Given the description of an element on the screen output the (x, y) to click on. 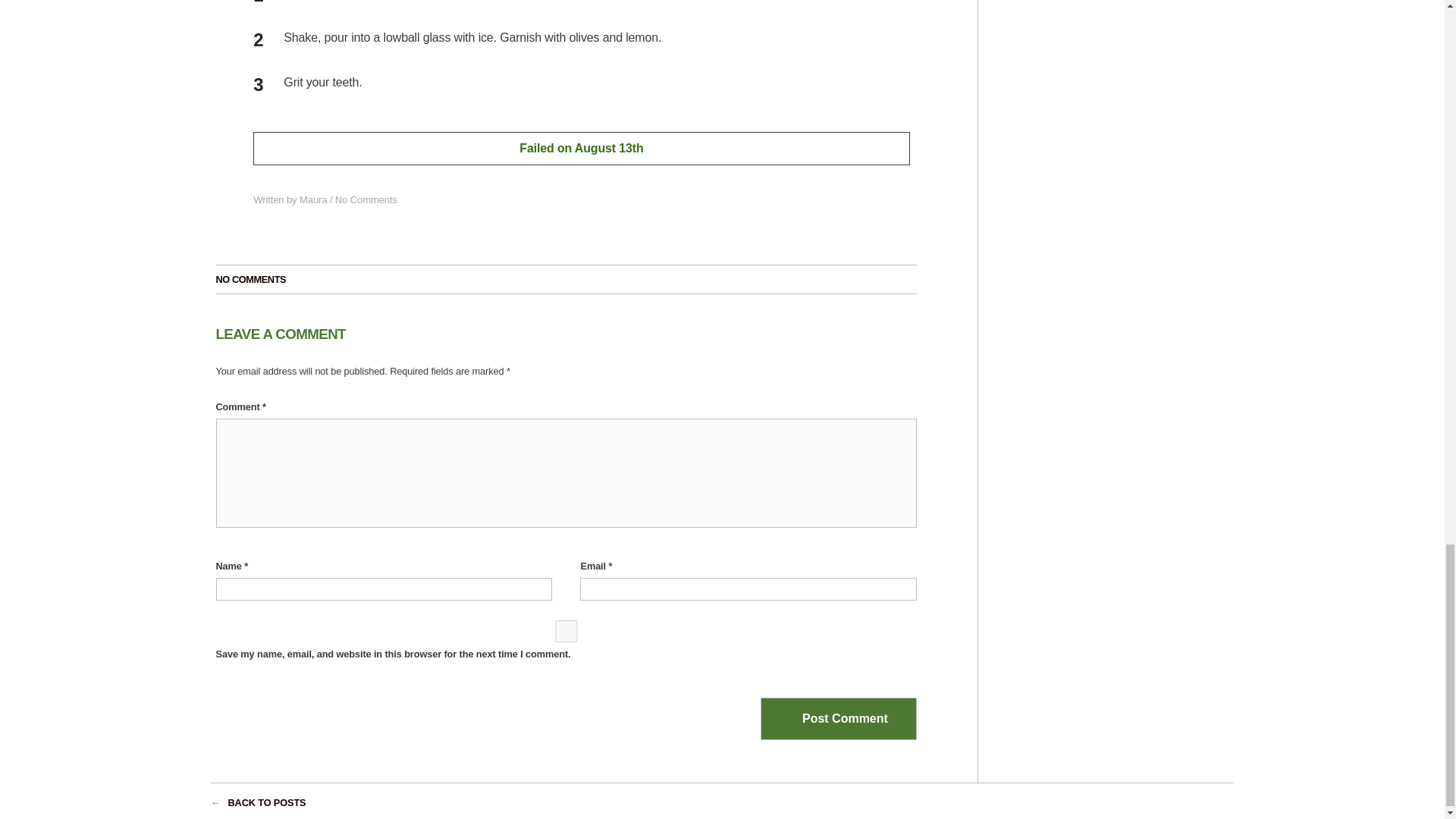
Post Comment (838, 718)
yes (566, 630)
No Comments (365, 199)
Post Comment (838, 718)
